Given the description of an element on the screen output the (x, y) to click on. 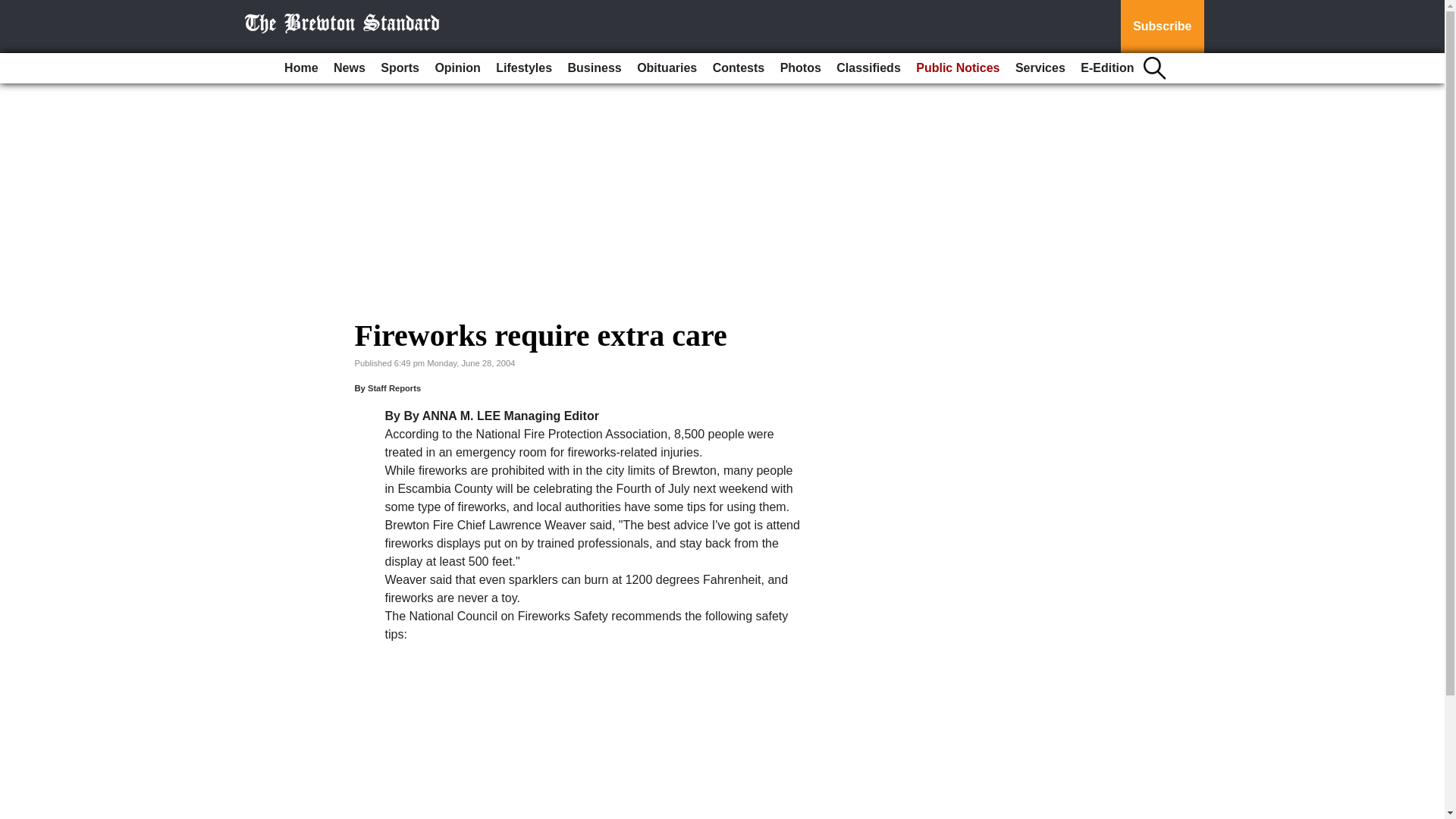
Services (1040, 68)
Lifestyles (523, 68)
Business (594, 68)
Subscribe (1162, 26)
Photos (800, 68)
Home (300, 68)
Staff Reports (394, 388)
Opinion (457, 68)
Sports (399, 68)
Contests (738, 68)
